Given the description of an element on the screen output the (x, y) to click on. 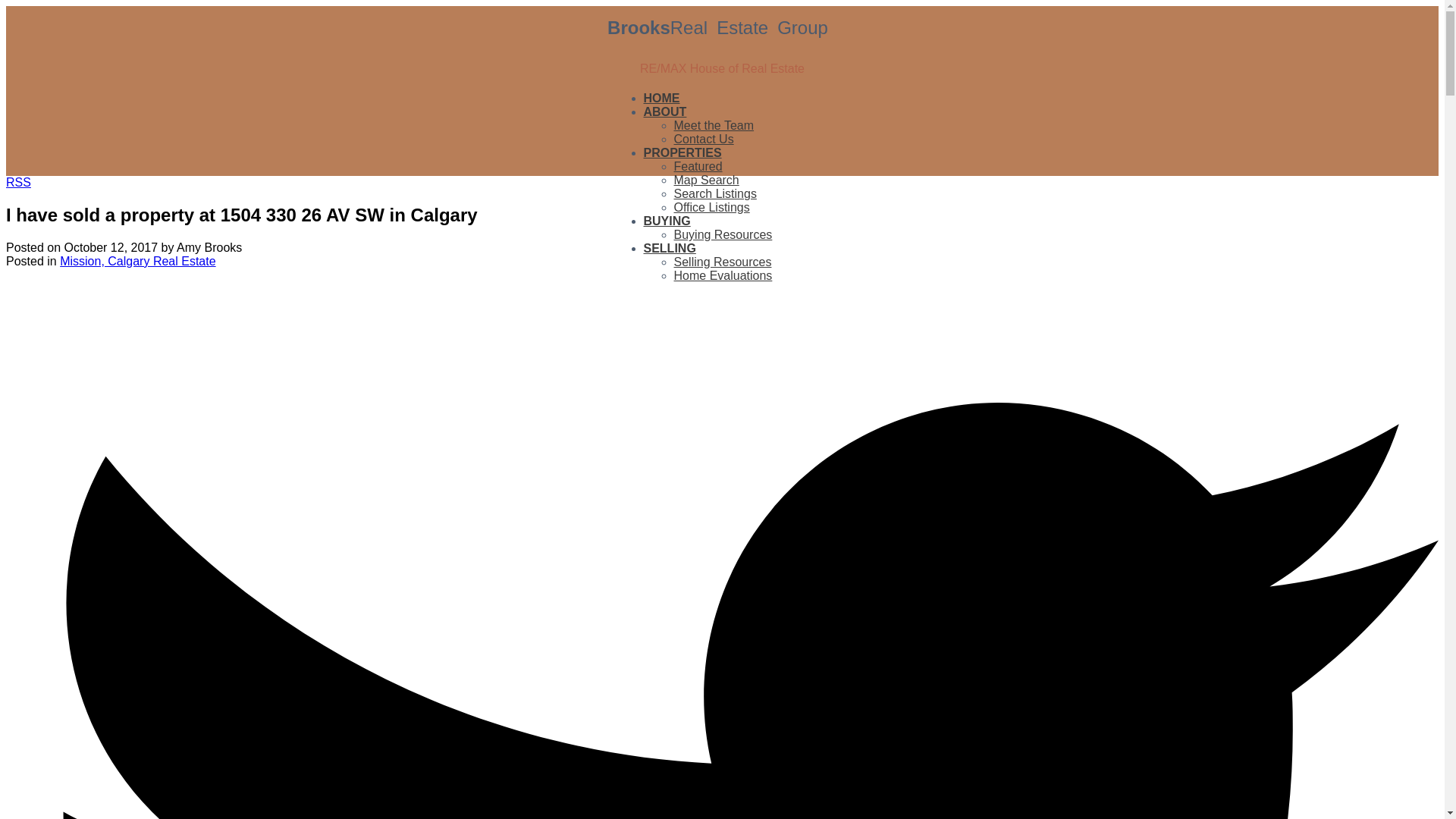
BUYING (666, 222)
Featured (697, 165)
RSS (17, 182)
ABOUT (664, 112)
HOME (661, 99)
Map Search (705, 179)
Selling Resources (721, 261)
Home Evaluations (721, 275)
Contact Us (702, 138)
Office Listings (710, 206)
